Given the description of an element on the screen output the (x, y) to click on. 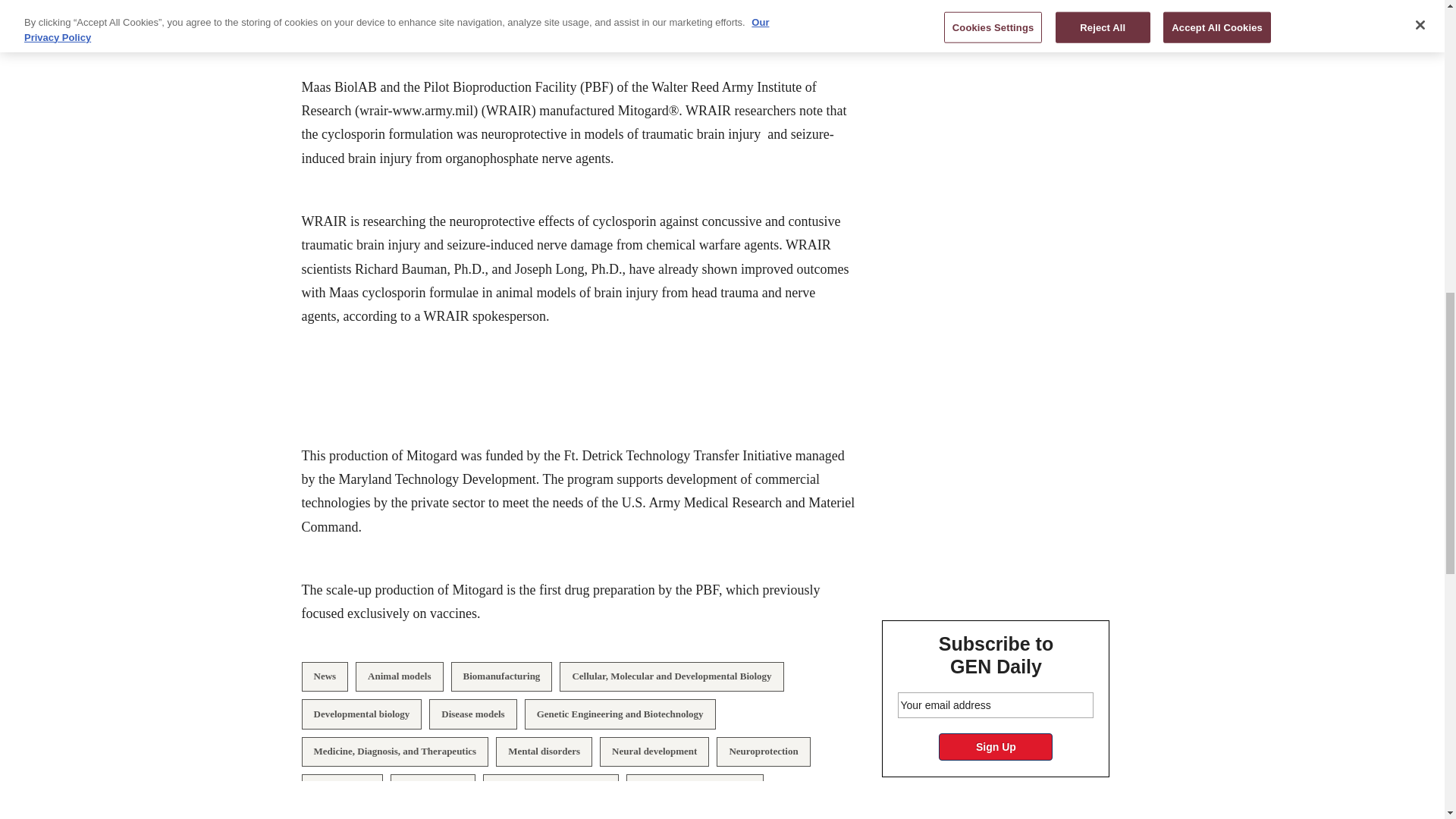
Sign Up (995, 746)
